Given the description of an element on the screen output the (x, y) to click on. 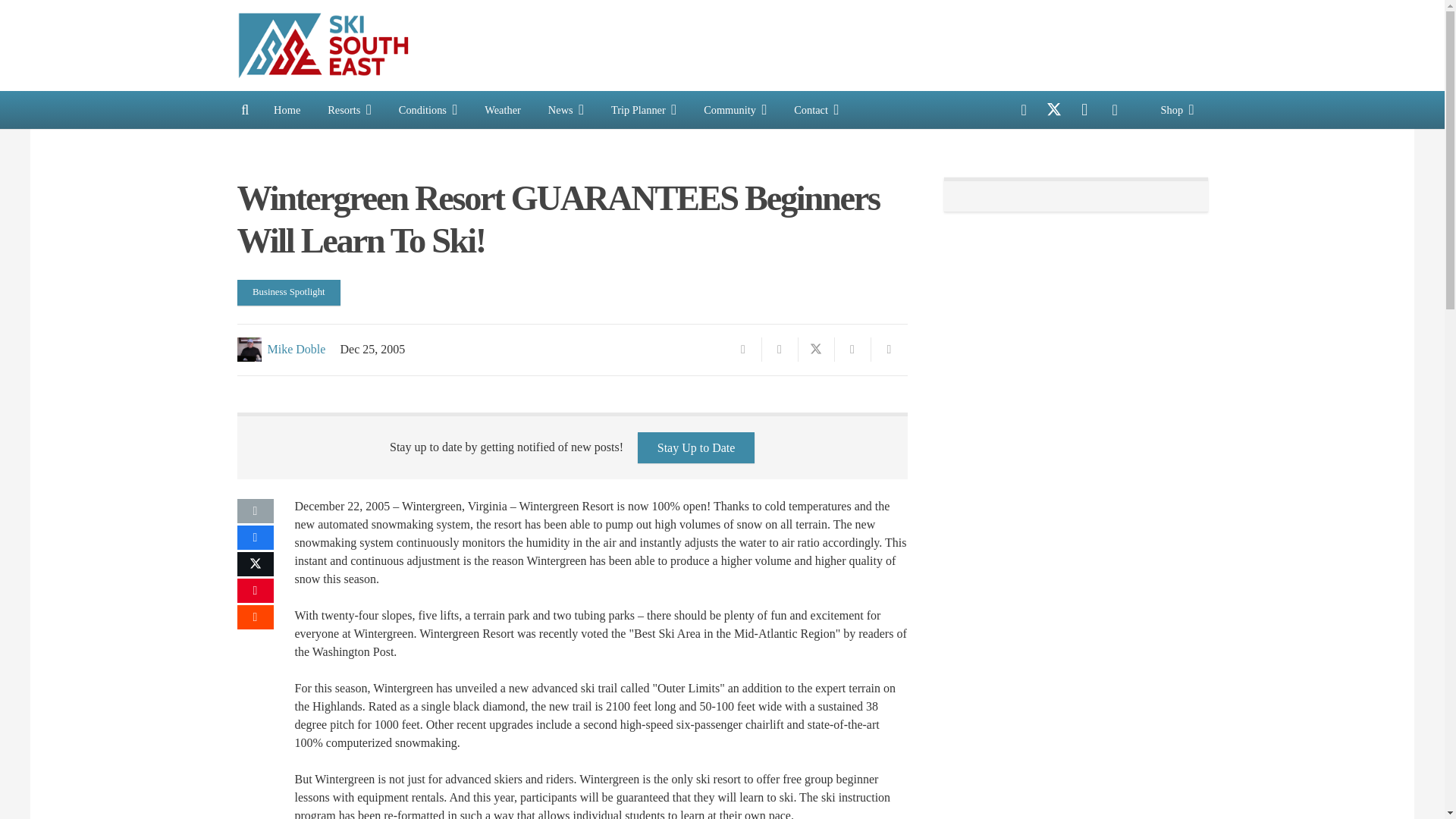
Conditions (428, 109)
Tweet this (815, 349)
Facebook (1024, 110)
Pin this (254, 590)
Tweet this (254, 564)
Share this (254, 617)
Twitter (1053, 110)
Share this (254, 537)
Share this (888, 349)
Share this (779, 349)
Email this (743, 349)
Instagram (1083, 110)
Pin this (852, 349)
Email this (254, 510)
Discord (1114, 110)
